Given the description of an element on the screen output the (x, y) to click on. 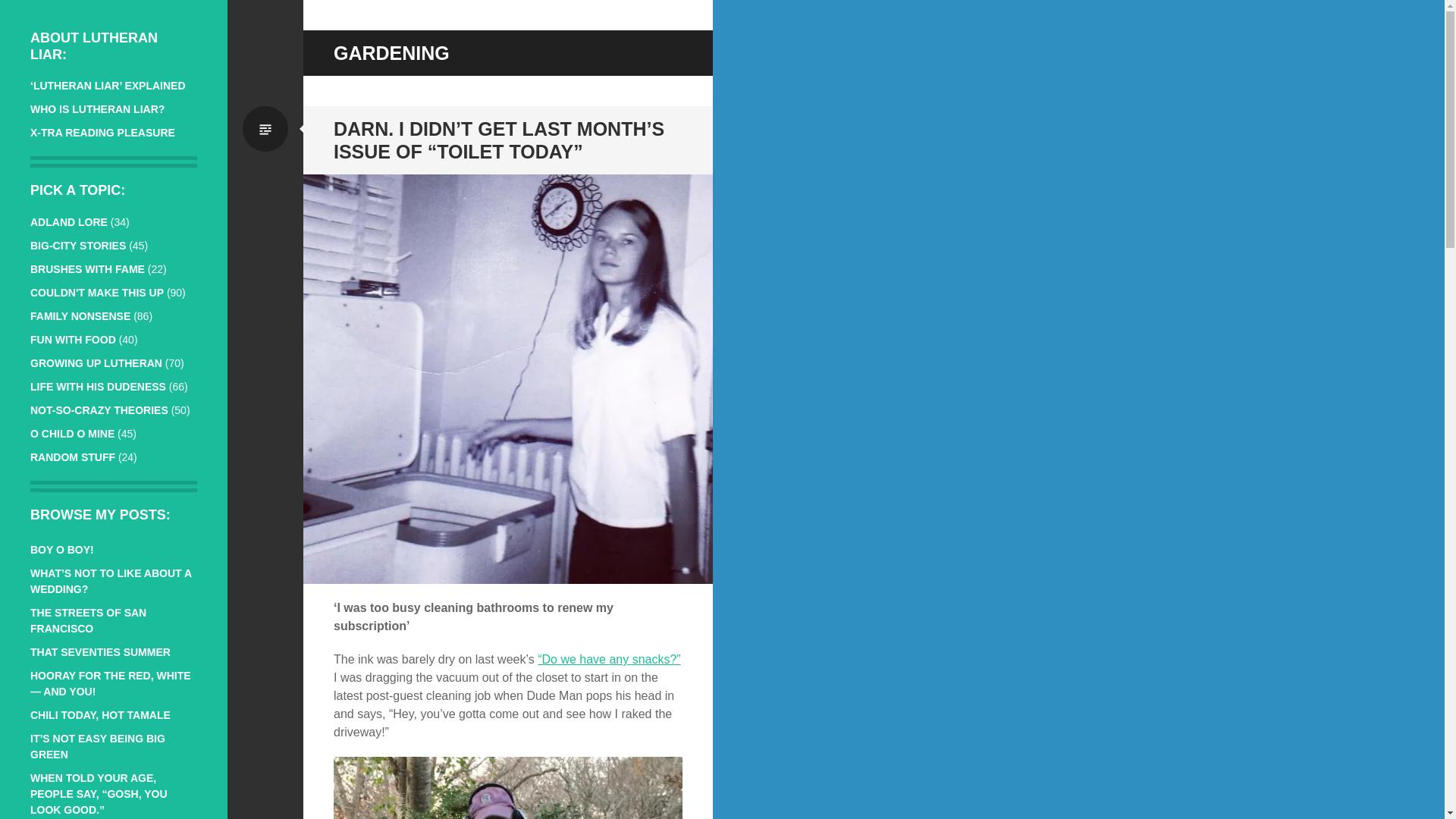
CHILI TODAY, HOT TAMALE (100, 715)
COULDN'T MAKE THIS UP (96, 292)
GROWING UP LUTHERAN (95, 363)
NOT-SO-CRAZY THEORIES (99, 410)
WHO IS LUTHERAN LIAR? (97, 109)
ADLAND LORE (68, 222)
RANDOM STUFF (72, 457)
BOY O BOY! (62, 549)
O CHILD O MINE (72, 433)
BRUSHES WITH FAME (87, 268)
